Given the description of an element on the screen output the (x, y) to click on. 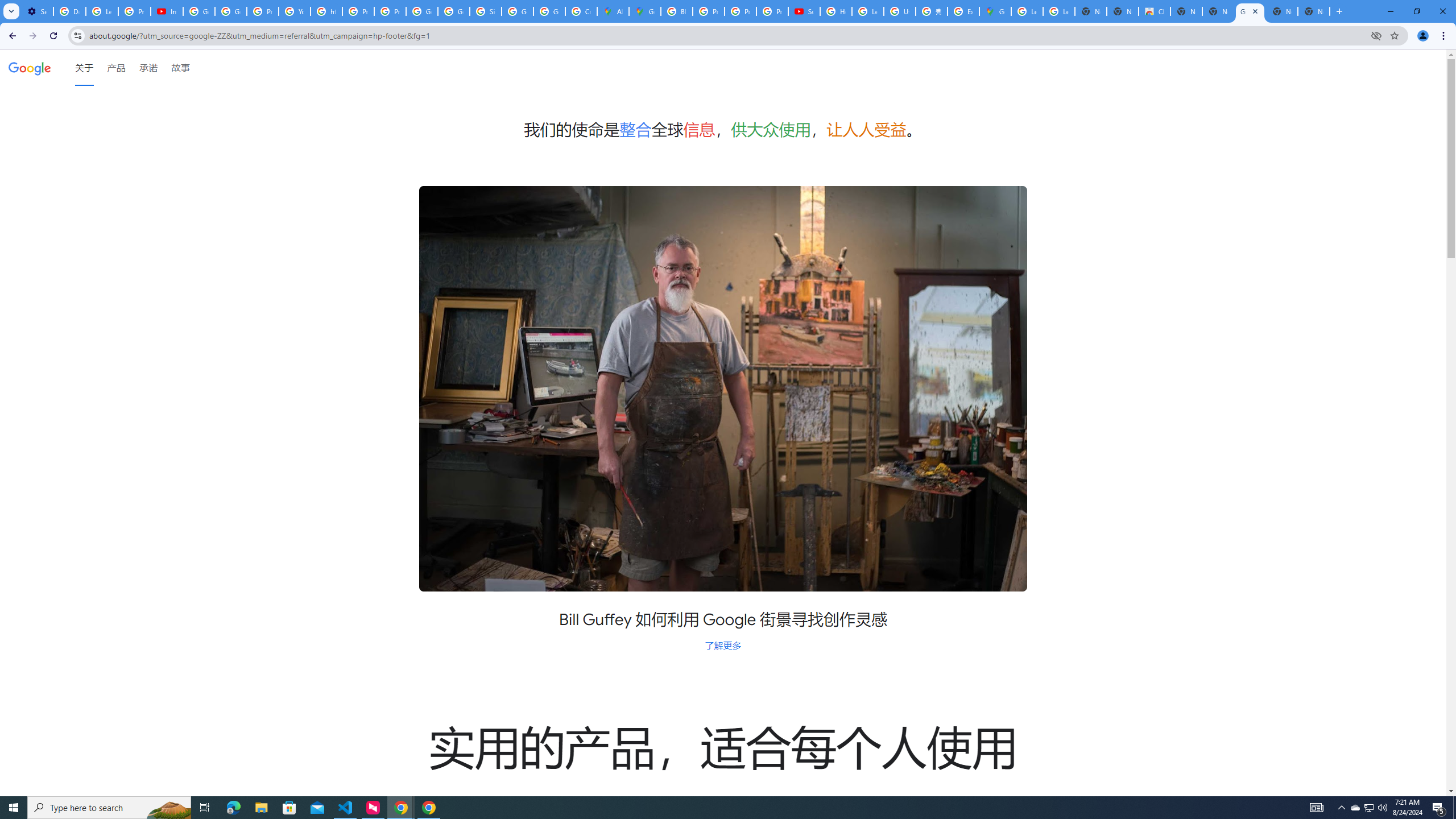
Google Maps (644, 11)
Privacy Help Center - Policies Help (262, 11)
Privacy Help Center - Policies Help (740, 11)
Google Maps (995, 11)
Create your Google Account (581, 11)
